Given the description of an element on the screen output the (x, y) to click on. 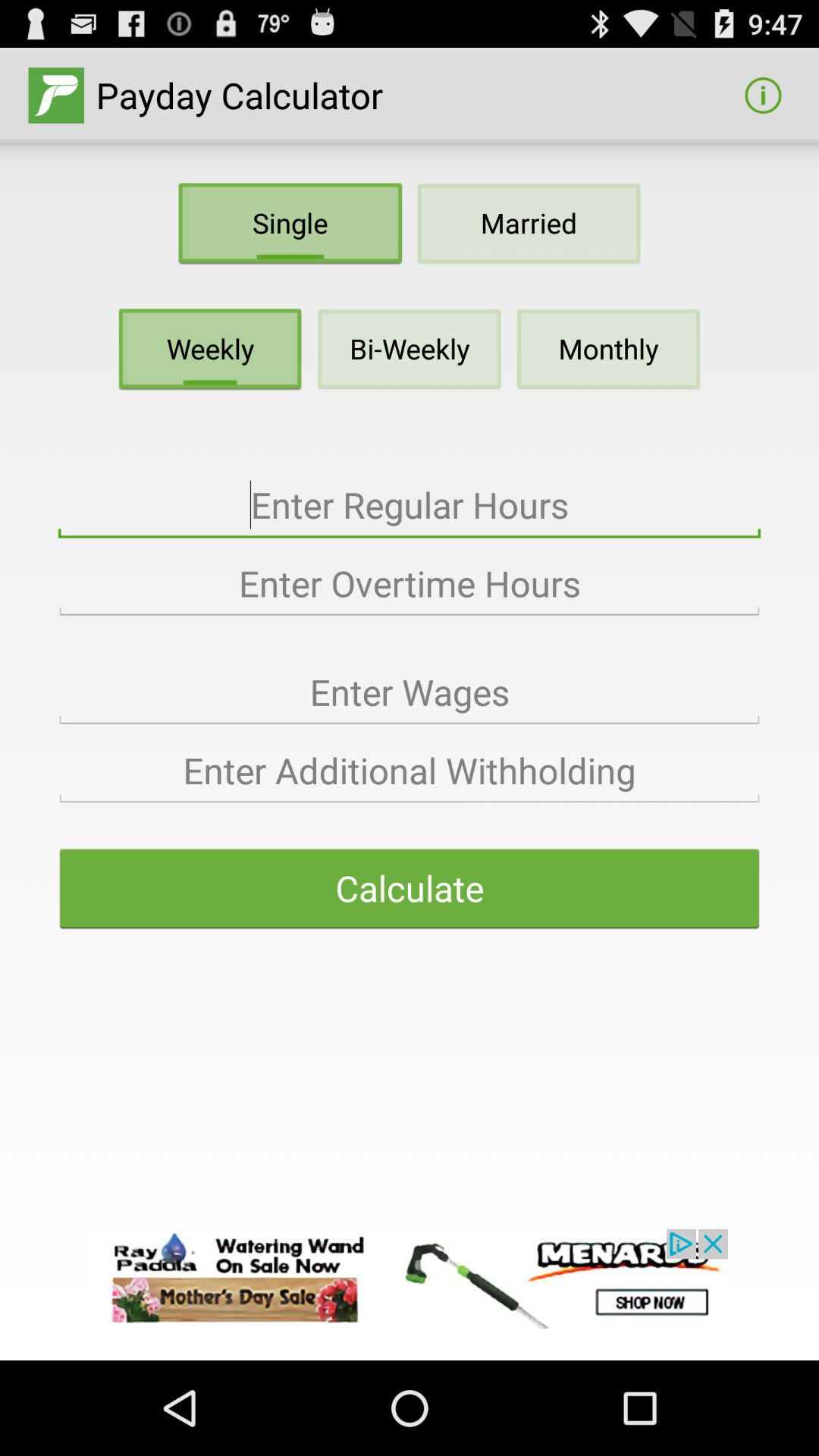
enter overtime hours (409, 583)
